Given the description of an element on the screen output the (x, y) to click on. 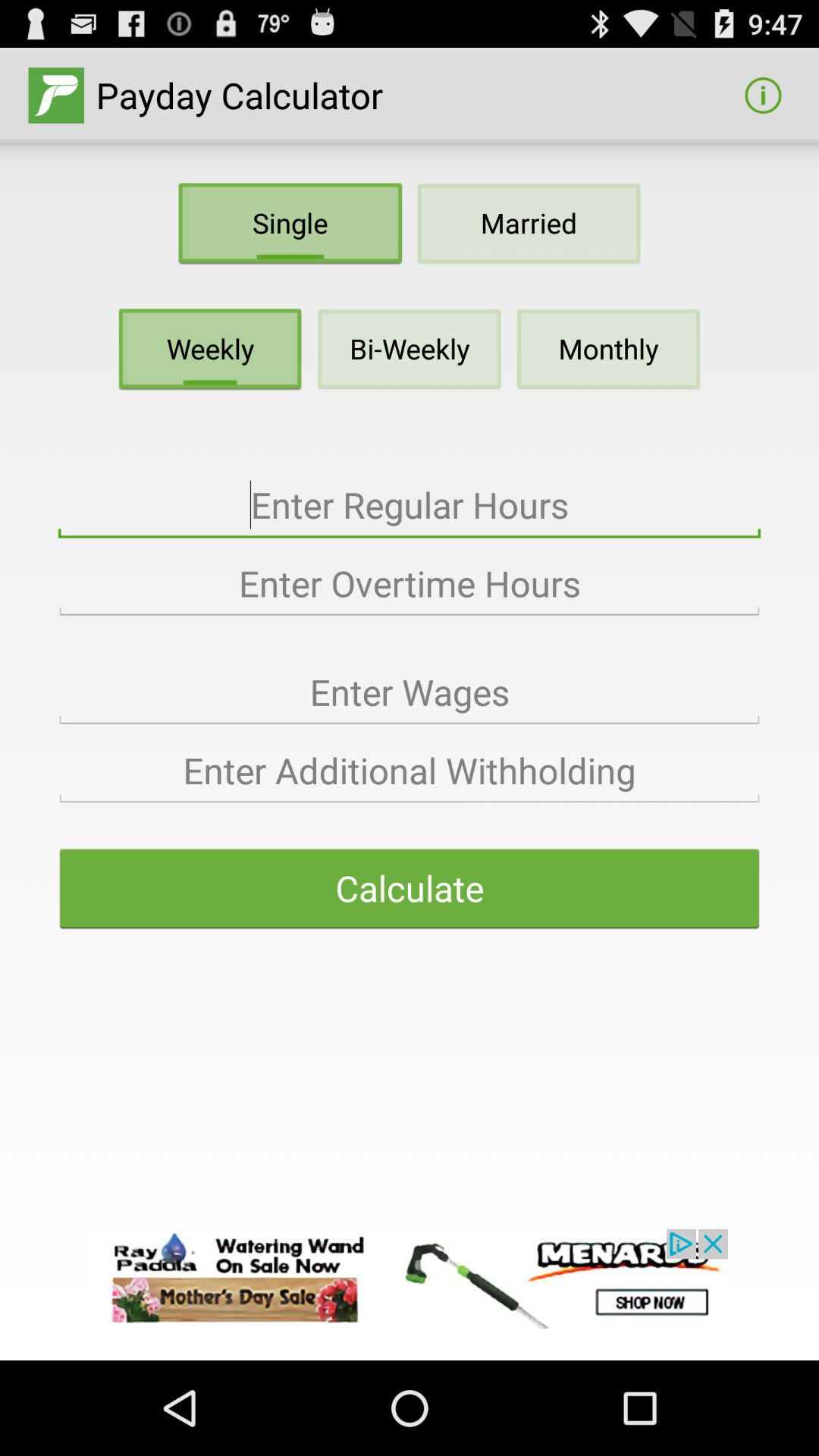
enter overtime hours (409, 583)
